Given the description of an element on the screen output the (x, y) to click on. 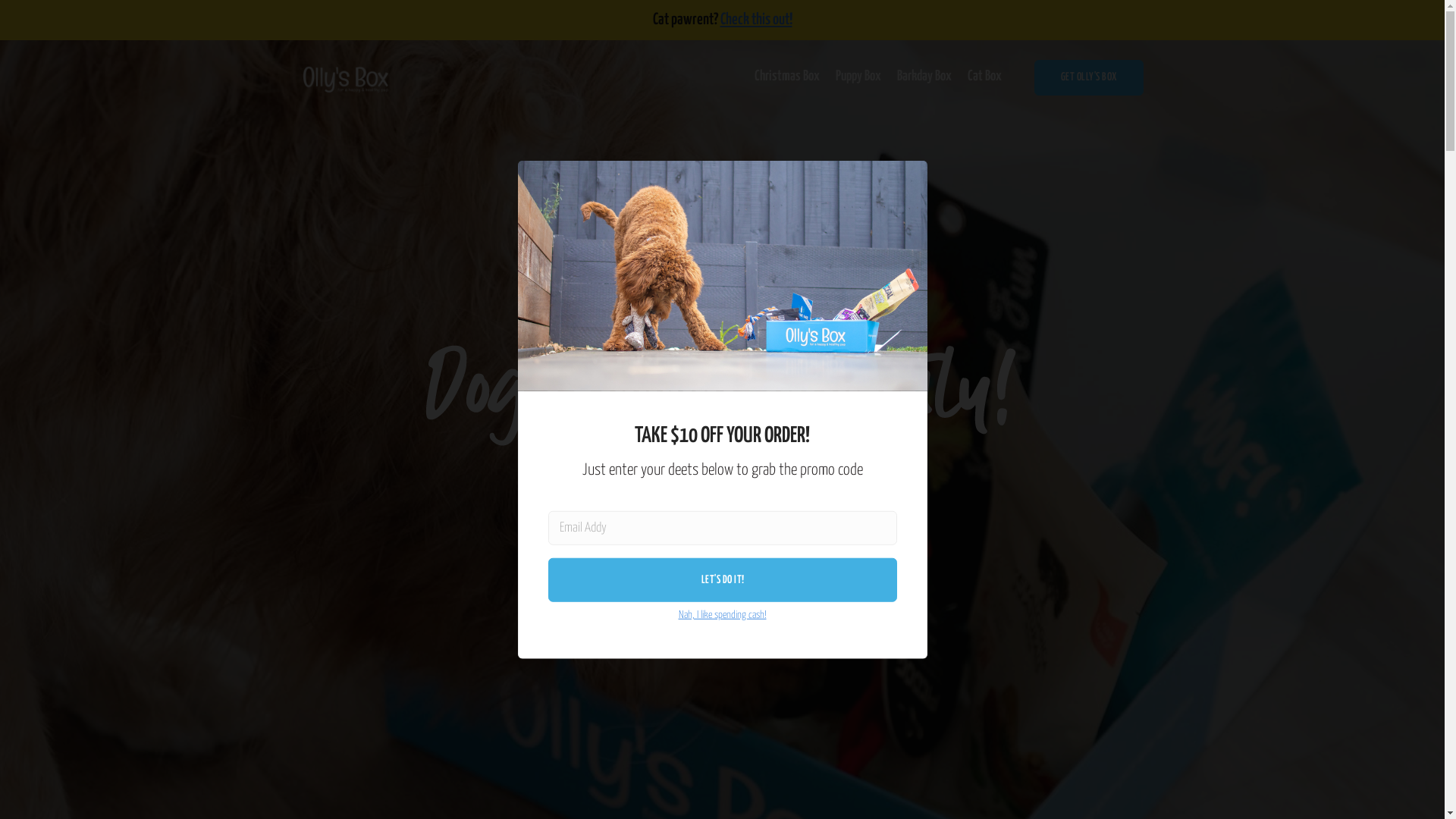
GET OLLY'S BOX, SAVE $10! Element type: text (721, 552)
Cat Box Element type: text (984, 76)
Barkday Box Element type: text (924, 76)
Christmas Box Element type: text (786, 76)
Nah, I like spending cash! Element type: text (721, 608)
Check this out! Element type: text (756, 19)
GET OLLY'S BOX Element type: text (1088, 77)
LET'S DO IT! Element type: text (722, 579)
Puppy Box Element type: text (858, 76)
